Given the description of an element on the screen output the (x, y) to click on. 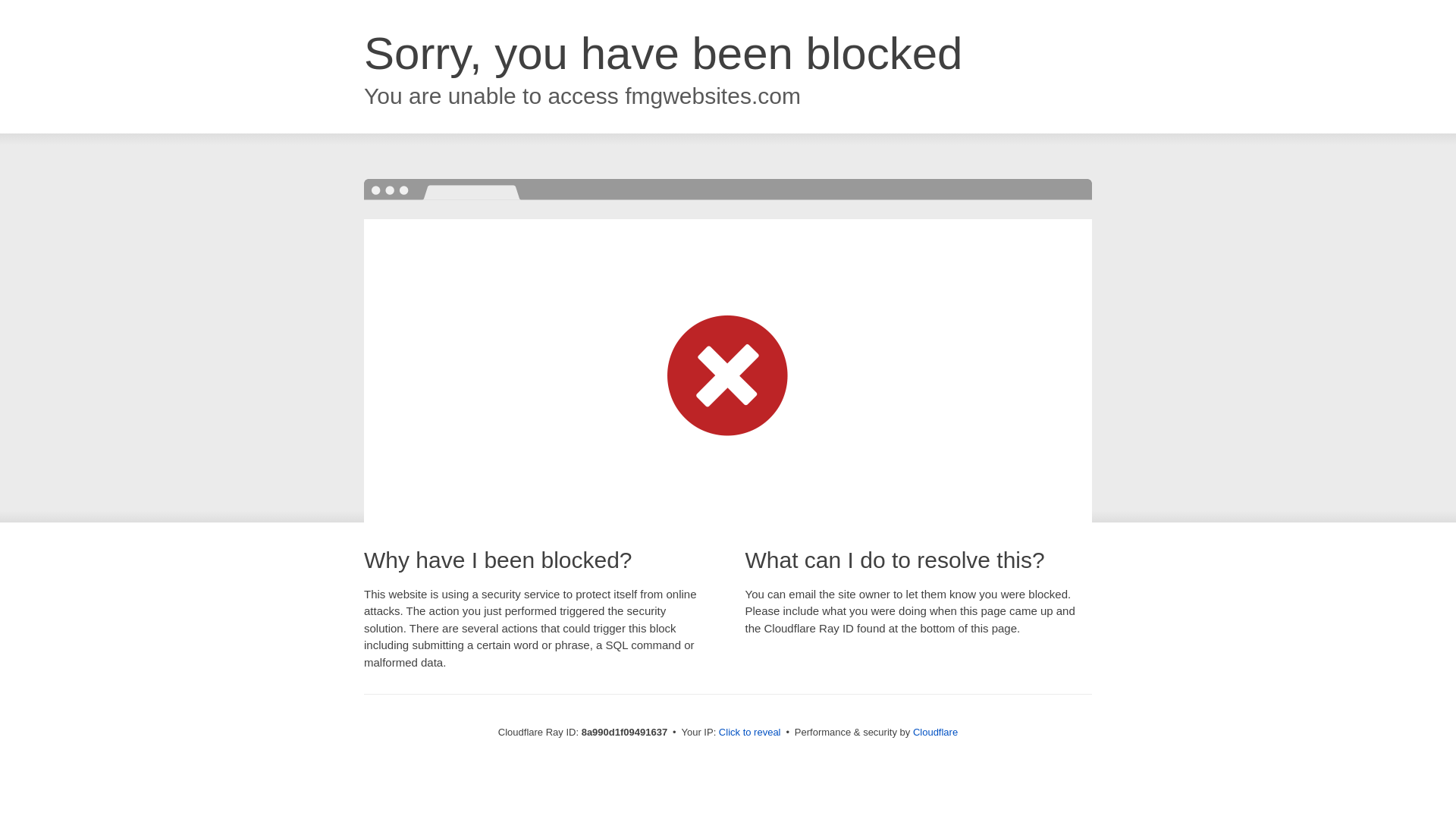
Click to reveal (749, 732)
Cloudflare (935, 731)
